Given the description of an element on the screen output the (x, y) to click on. 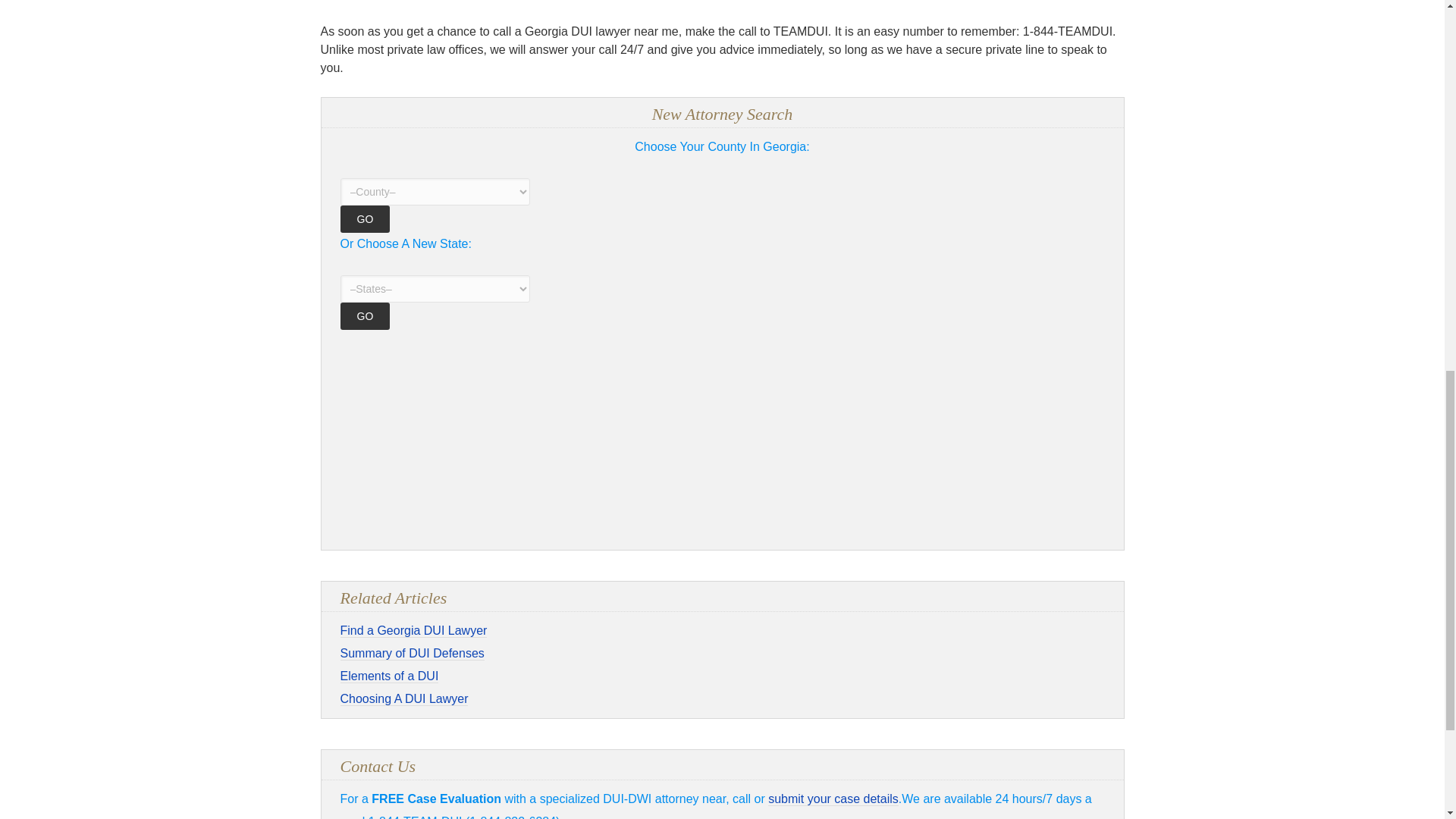
Elements Of A DUI (388, 676)
GO (364, 218)
Find a Georgia DUI Lawyer (412, 631)
GO (364, 316)
